Given the description of an element on the screen output the (x, y) to click on. 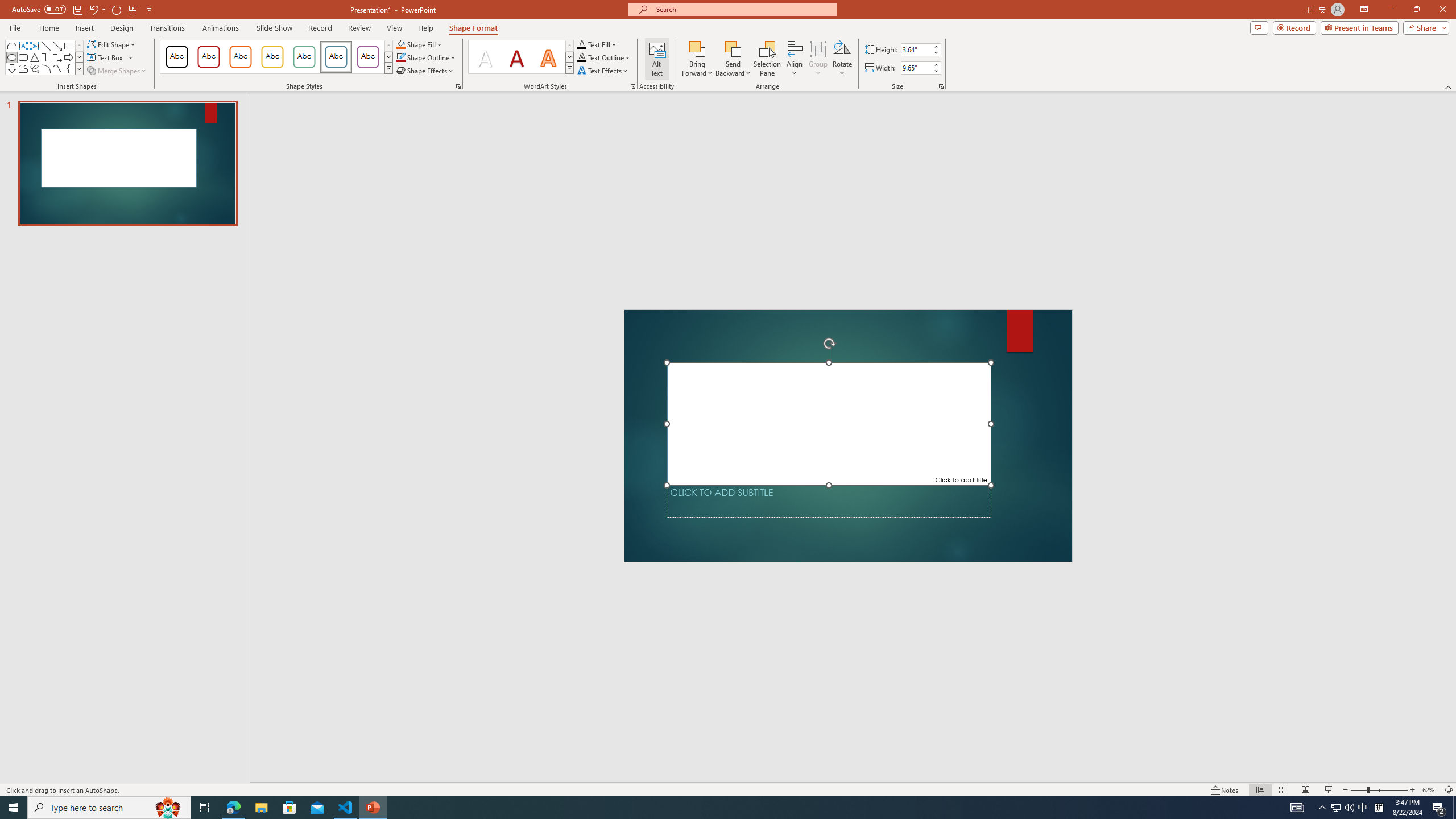
Colored Outline - Black, Dark 1 (176, 56)
Colored Outline - Gold, Accent 3 (272, 56)
Size and Position... (941, 85)
Bring Forward (697, 58)
Shape Outline (426, 56)
Shape Effects (425, 69)
Fill: White, Text color 1; Shadow (484, 56)
Alt Text (656, 58)
Colored Outline - Green, Accent 4 (304, 56)
